Given the description of an element on the screen output the (x, y) to click on. 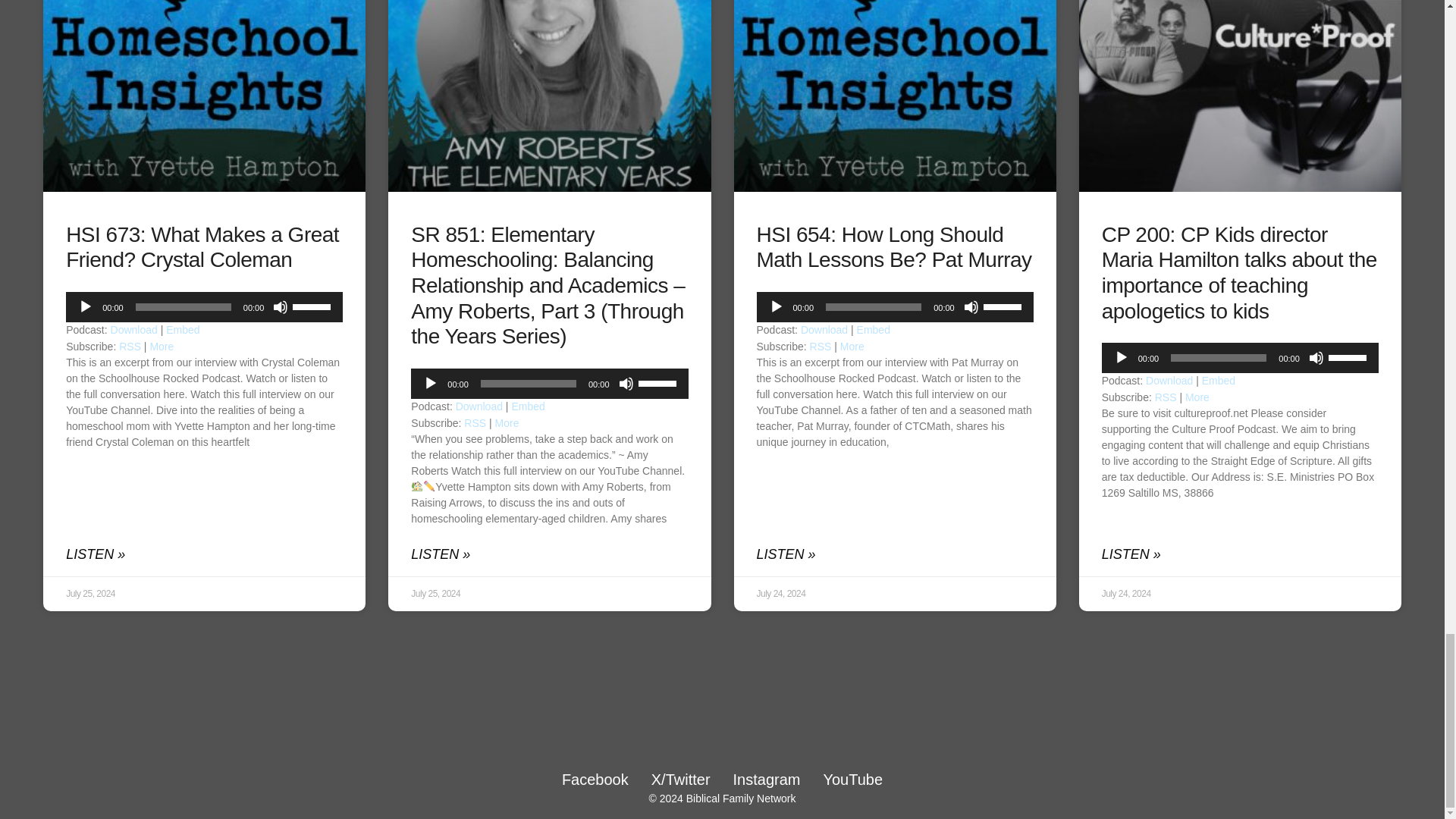
Mute (280, 306)
Play (85, 306)
More (161, 346)
Embed (527, 406)
Play (430, 383)
Embed (182, 329)
Mute (625, 383)
Download (478, 406)
Download (133, 329)
Subscribe via RSS (130, 346)
